Given the description of an element on the screen output the (x, y) to click on. 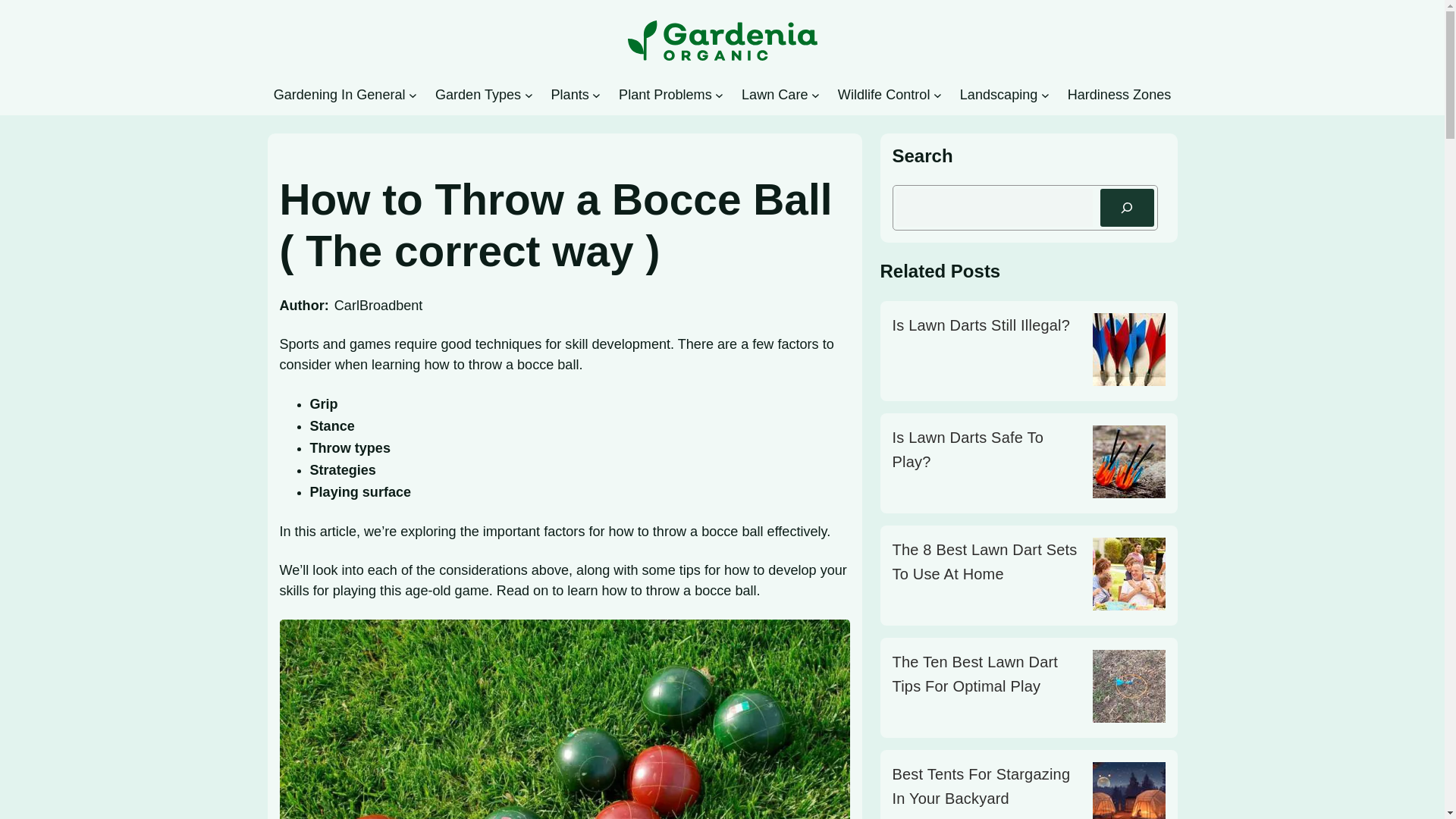
Lawn Care (774, 94)
Plant Problems (664, 94)
Plants (569, 94)
Garden Types (478, 94)
Gardening In General (339, 94)
